Given the description of an element on the screen output the (x, y) to click on. 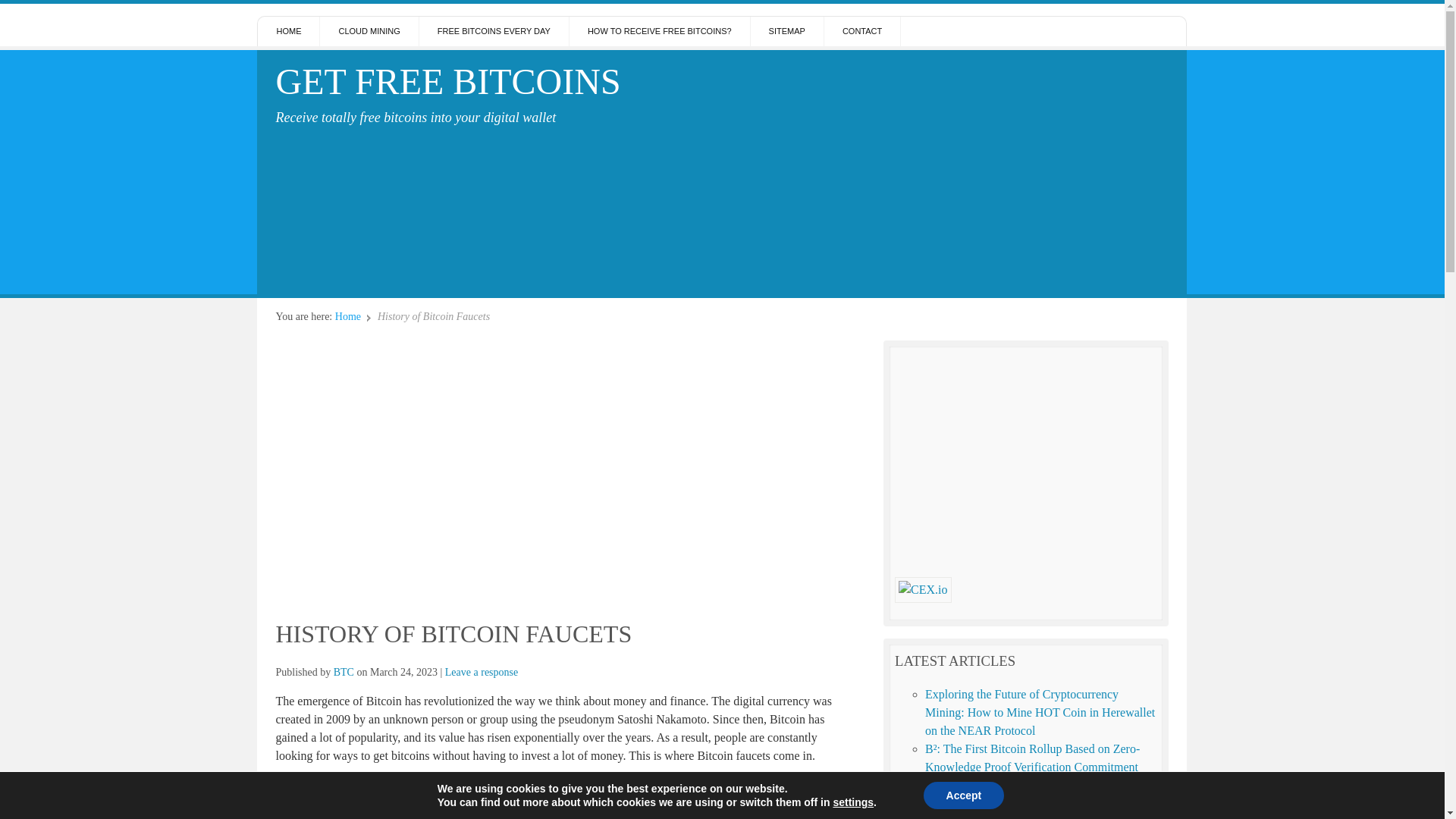
HOW TO RECEIVE FREE BITCOINS? (660, 30)
The Comprehensive History of Bitcoin Forks (1034, 784)
Advertisement (1026, 458)
Leave a response (481, 672)
Get Free Bitcoins (347, 316)
Accept (963, 795)
settings (852, 802)
Advertisement (945, 168)
CONTACT (862, 30)
Get Free Bitcoins (447, 81)
Friday, March 24th, 2023, 8:37 am (403, 672)
FREE BITCOINS EVERY DAY (494, 30)
CLOUD MINING (369, 30)
Home (347, 316)
